Given the description of an element on the screen output the (x, y) to click on. 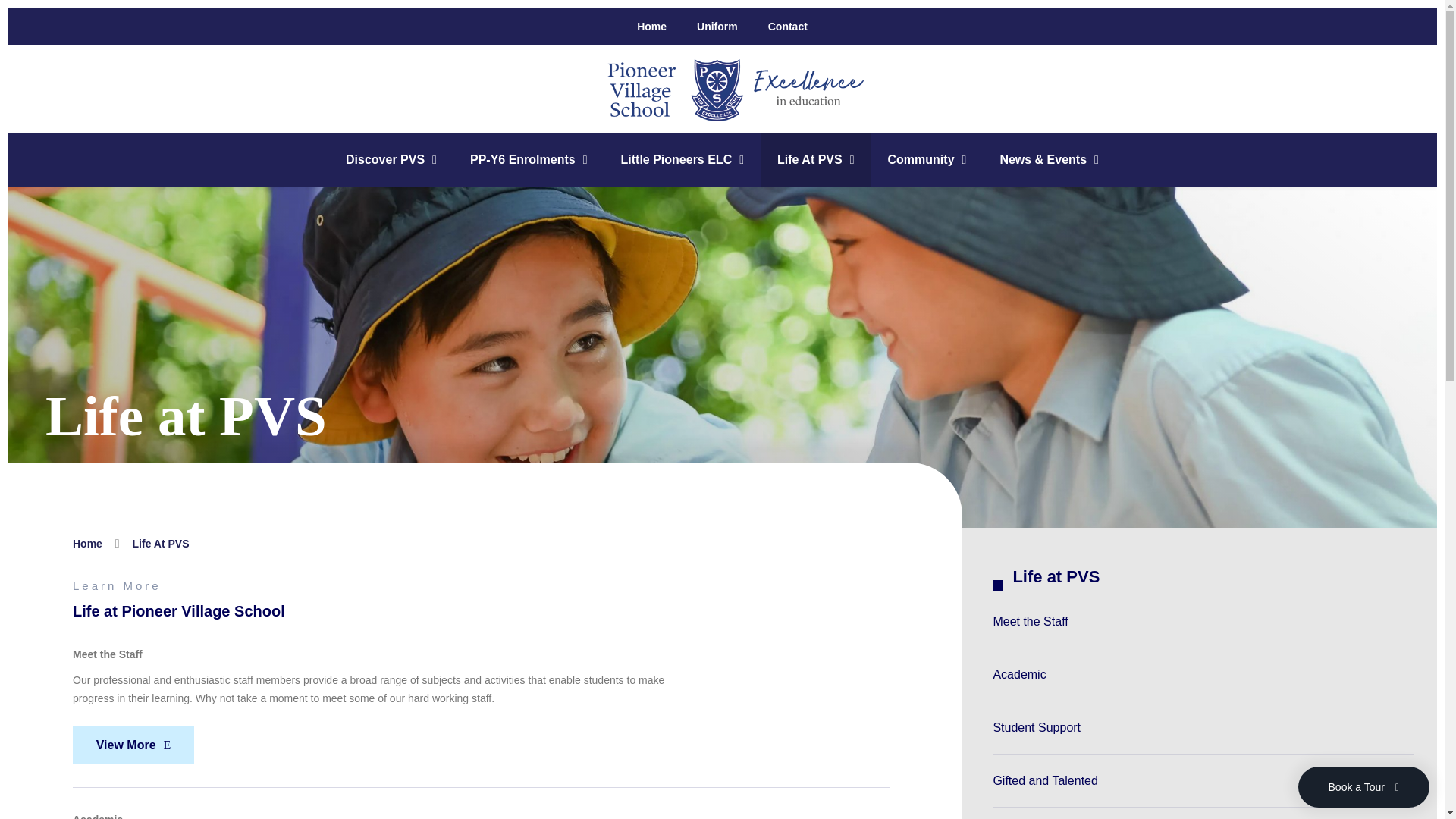
Life At PVS (815, 159)
Little Pioneers ELC (682, 159)
Meet the Staff (1202, 621)
Discover PVS (390, 159)
Pioneer Village School (722, 89)
Academic (1202, 674)
Home (86, 543)
Contact (788, 26)
Home (651, 26)
Uniform (717, 26)
